Given the description of an element on the screen output the (x, y) to click on. 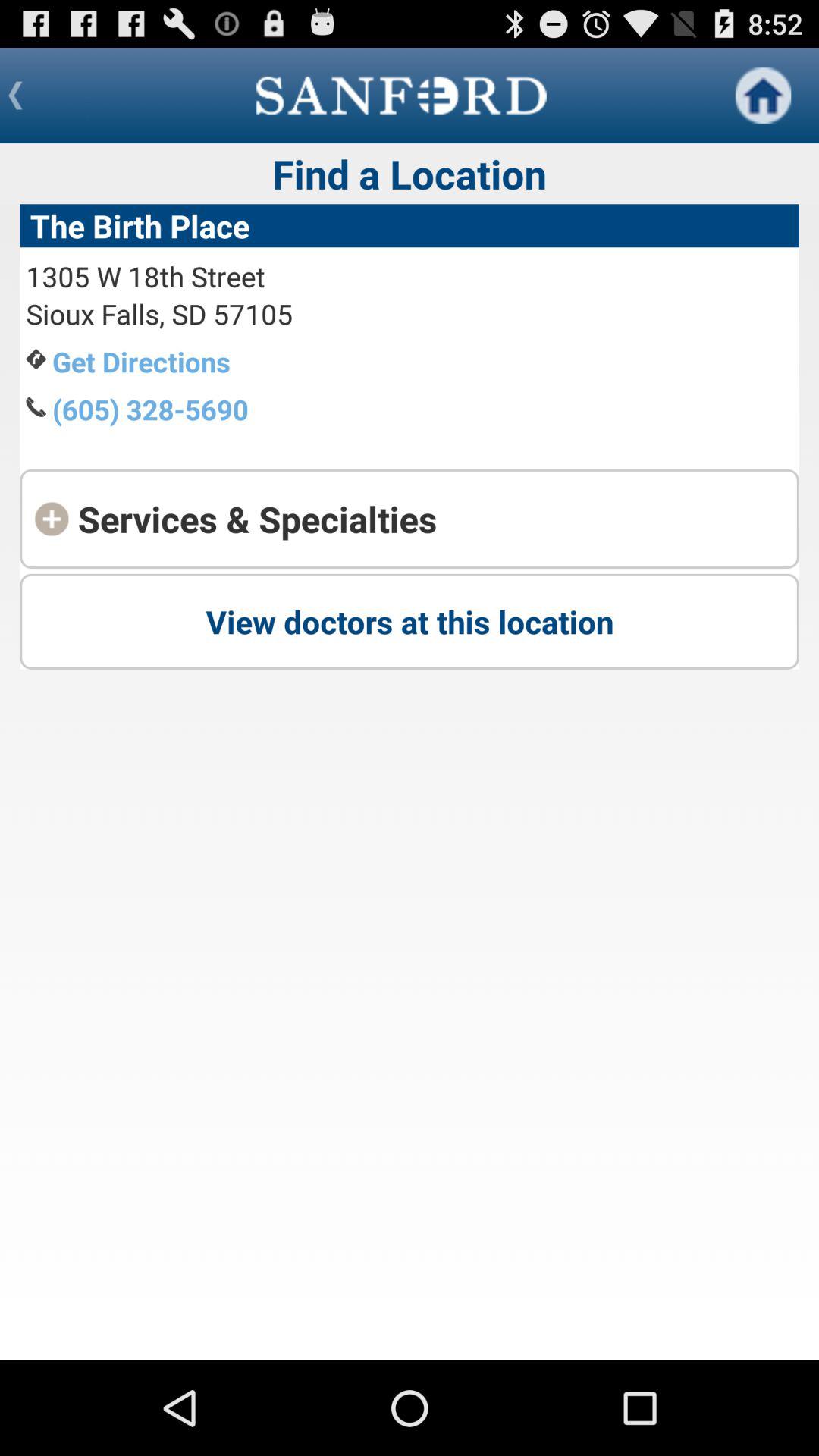
click view doctors at item (409, 621)
